Given the description of an element on the screen output the (x, y) to click on. 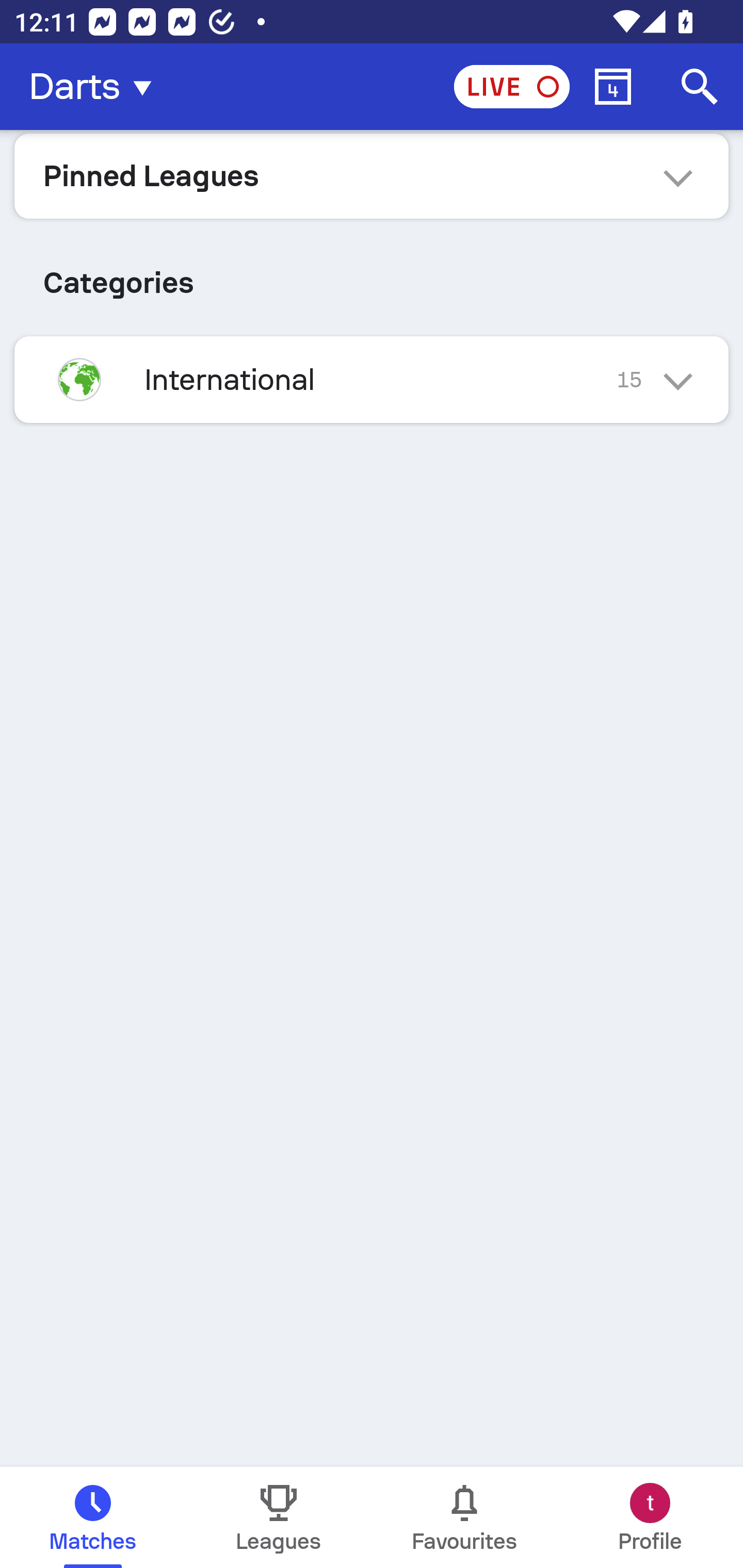
Darts (96, 86)
Calendar (612, 86)
Search (699, 86)
Pinned Leagues (371, 175)
Categories (371, 275)
International 15 (371, 379)
Leagues (278, 1517)
Favourites (464, 1517)
Profile (650, 1517)
